Given the description of an element on the screen output the (x, y) to click on. 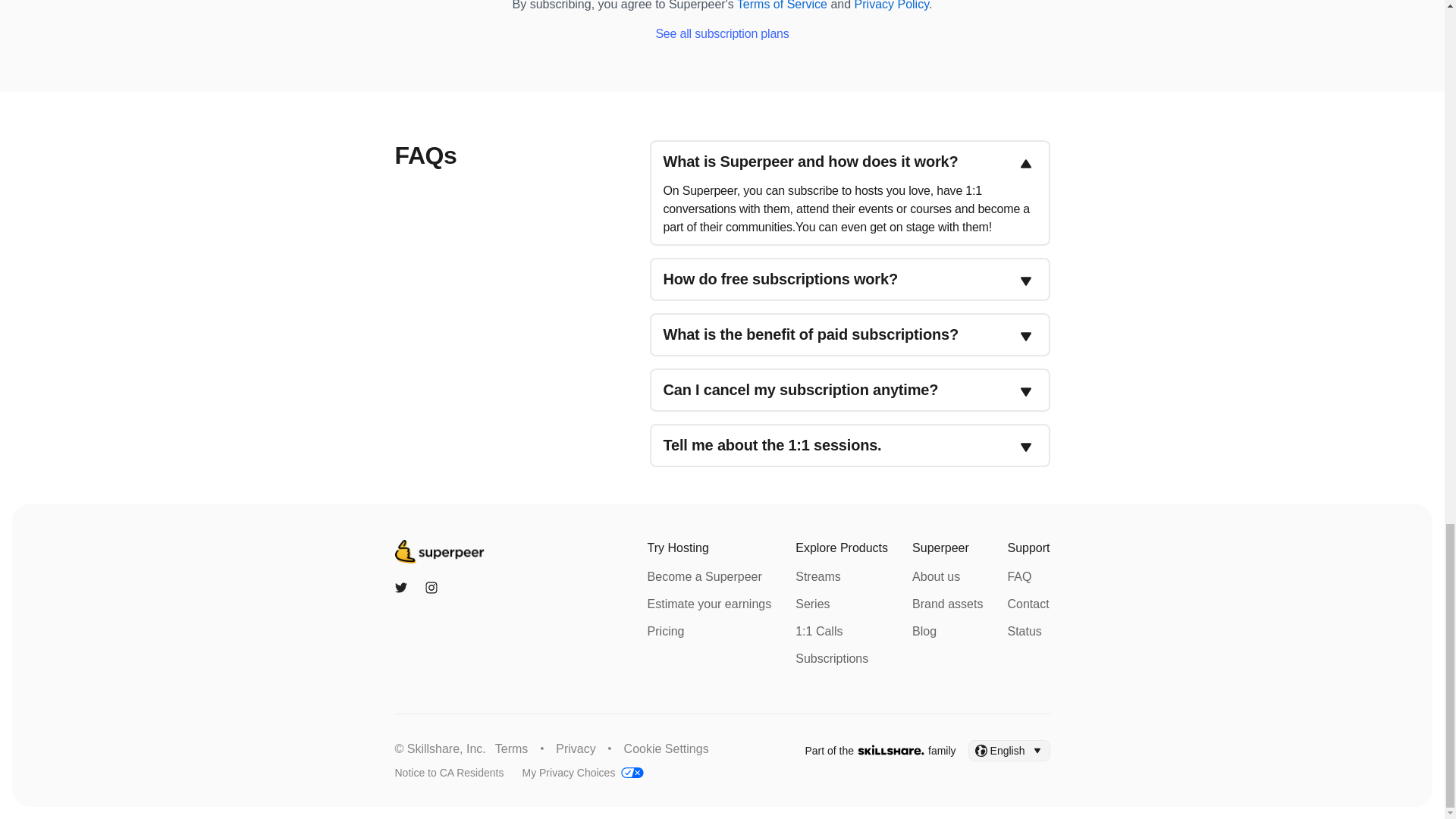
Notice to CA Residents (448, 772)
Streams (817, 576)
My Privacy Choices (567, 772)
Become a Superpeer (704, 576)
Blog (924, 631)
Status (1024, 631)
English (1008, 750)
Estimate your earnings (709, 603)
FAQ (1018, 576)
My Privacy Choices (567, 772)
1:1 Calls (818, 631)
Notice to CA Residents (448, 772)
Contact (1027, 603)
Series (811, 603)
Cookie Settings (666, 748)
